Given the description of an element on the screen output the (x, y) to click on. 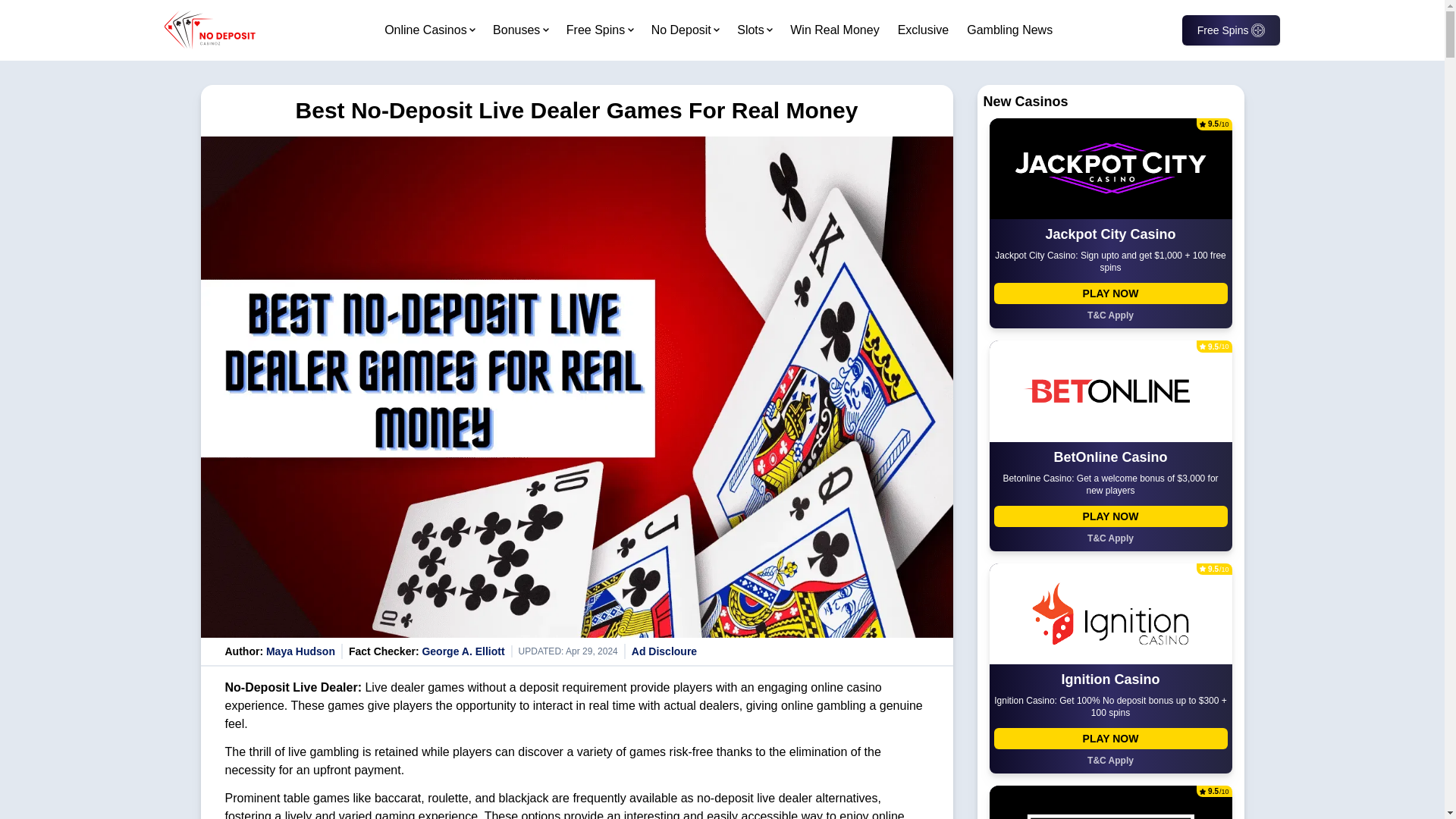
NoDepositBonusCasinoz.com (208, 29)
Online Casinos (425, 29)
Gambling News (1009, 29)
Bonuses (516, 29)
No Deposit (680, 29)
Slots (750, 29)
Exclusive (923, 29)
Bonuses (516, 29)
Online Casinos (425, 29)
Free Spins (595, 29)
